Given the description of an element on the screen output the (x, y) to click on. 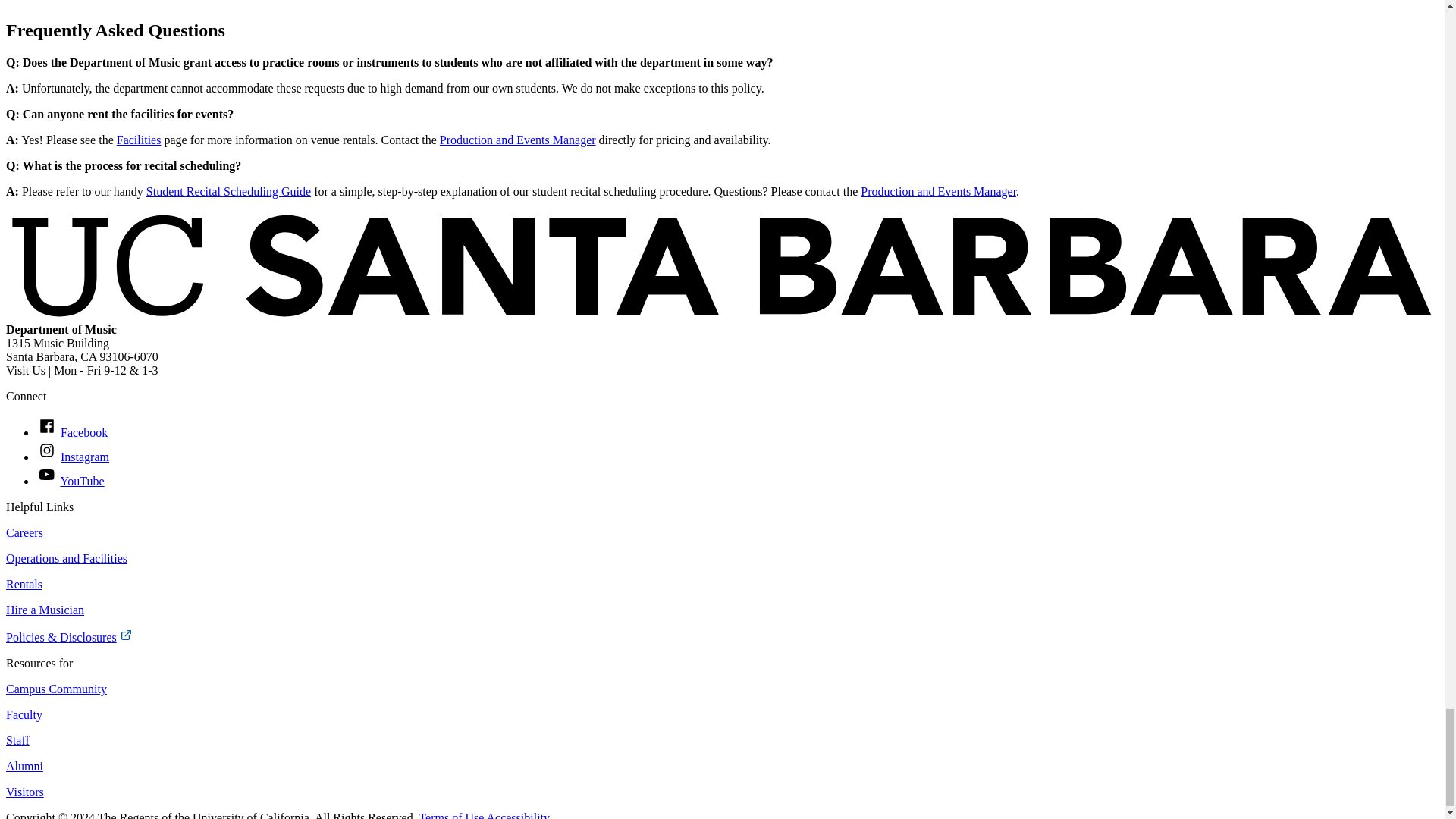
Staff Directory (517, 139)
Staff Directory (938, 191)
